Given the description of an element on the screen output the (x, y) to click on. 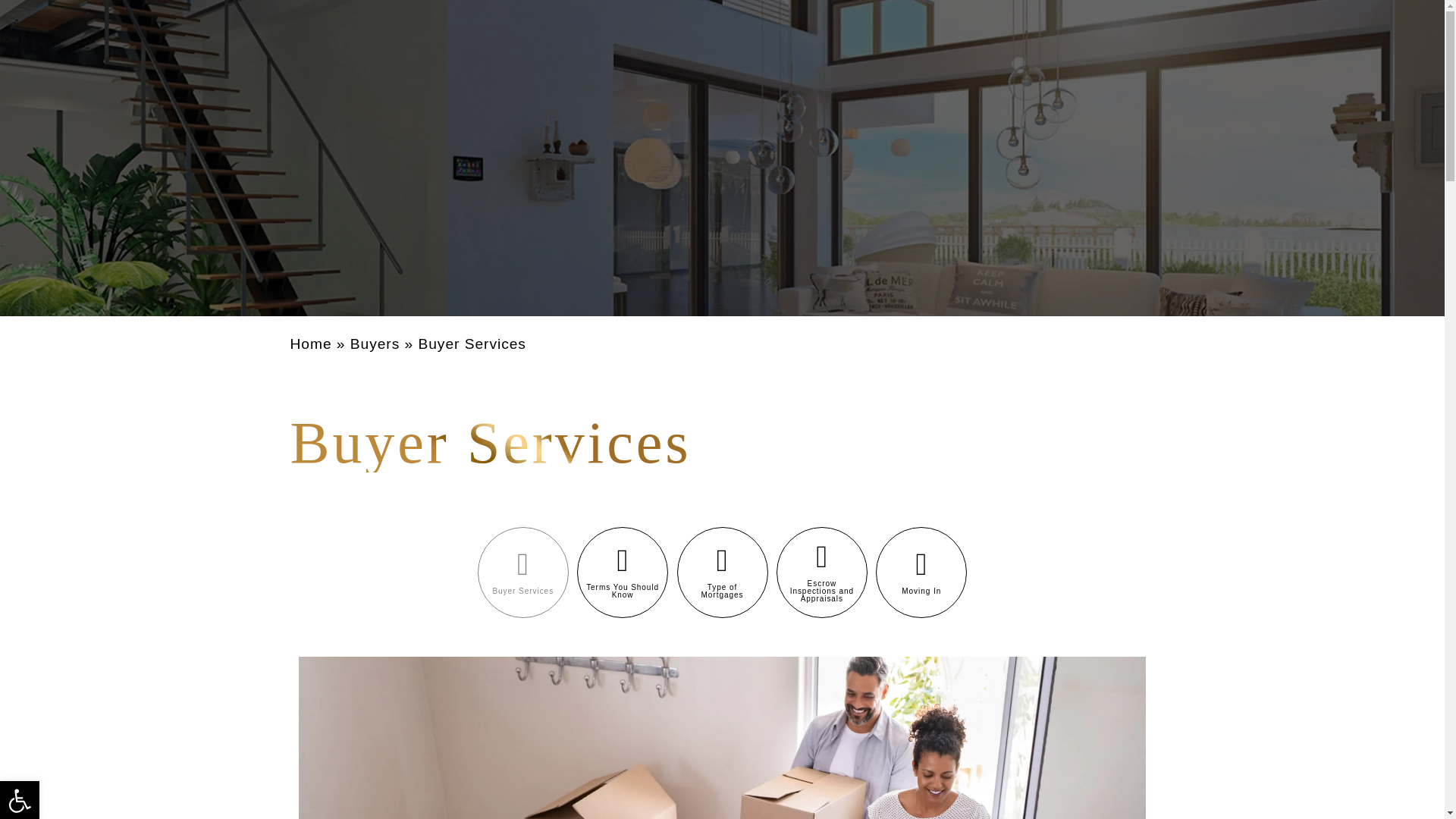
Home (310, 343)
Accessibility Tools (19, 800)
Type of Mortgages (722, 572)
Terms You Should Know (622, 572)
Moving In (921, 572)
Accessibility Tools (19, 800)
Escrow Inspections and Appraisals (821, 572)
Buyer Services (523, 572)
Buyers (374, 343)
